Given the description of an element on the screen output the (x, y) to click on. 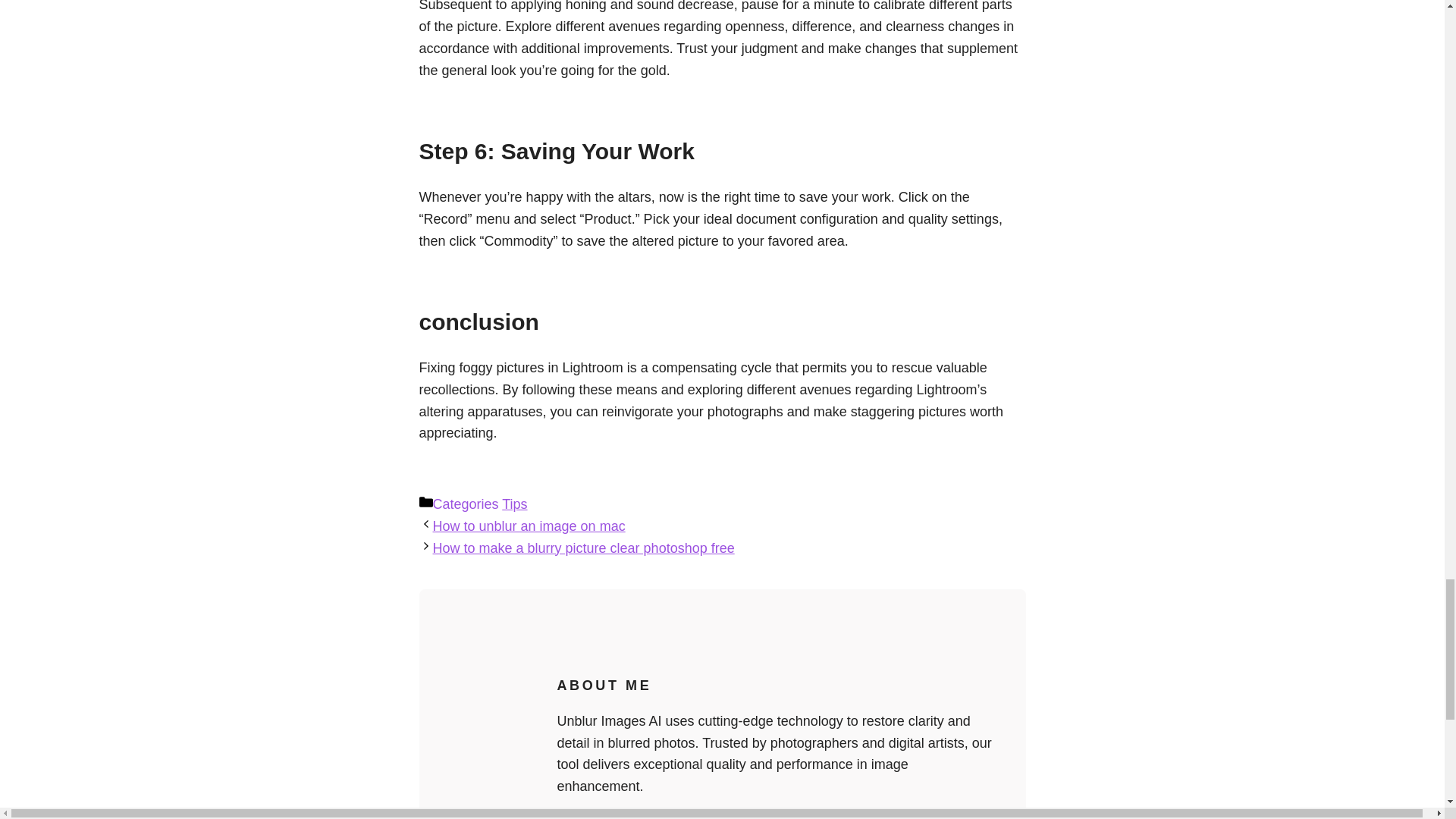
How to make a blurry picture clear photoshop free (582, 547)
How to unblur an image on mac (528, 525)
Tips (514, 503)
